Given the description of an element on the screen output the (x, y) to click on. 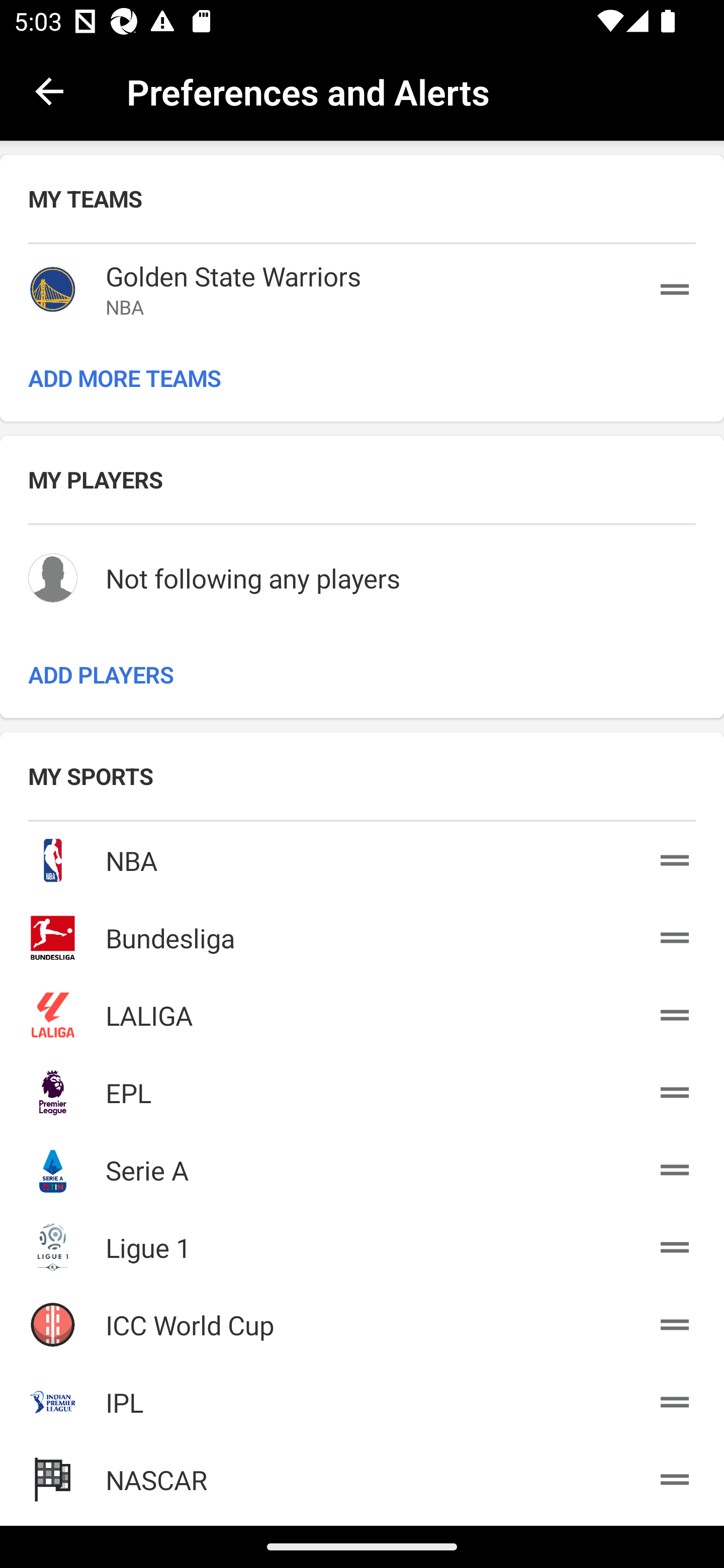
back.button (49, 90)
ADD MORE TEAMS (362, 377)
ADD PLAYERS (362, 674)
NBA NBA NBA (362, 856)
Bundesliga Bundesliga Bundesliga (362, 934)
LALIGA LALIGA LALIGA (362, 1011)
EPL EPL EPL (362, 1088)
Serie A Serie A Serie A (362, 1166)
Ligue 1 Ligue 1 Ligue 1 (362, 1243)
ICC World Cup ICC World Cup ICC World Cup (362, 1320)
IPL IPL IPL (362, 1398)
NASCAR NASCAR NASCAR (362, 1475)
